Given the description of an element on the screen output the (x, y) to click on. 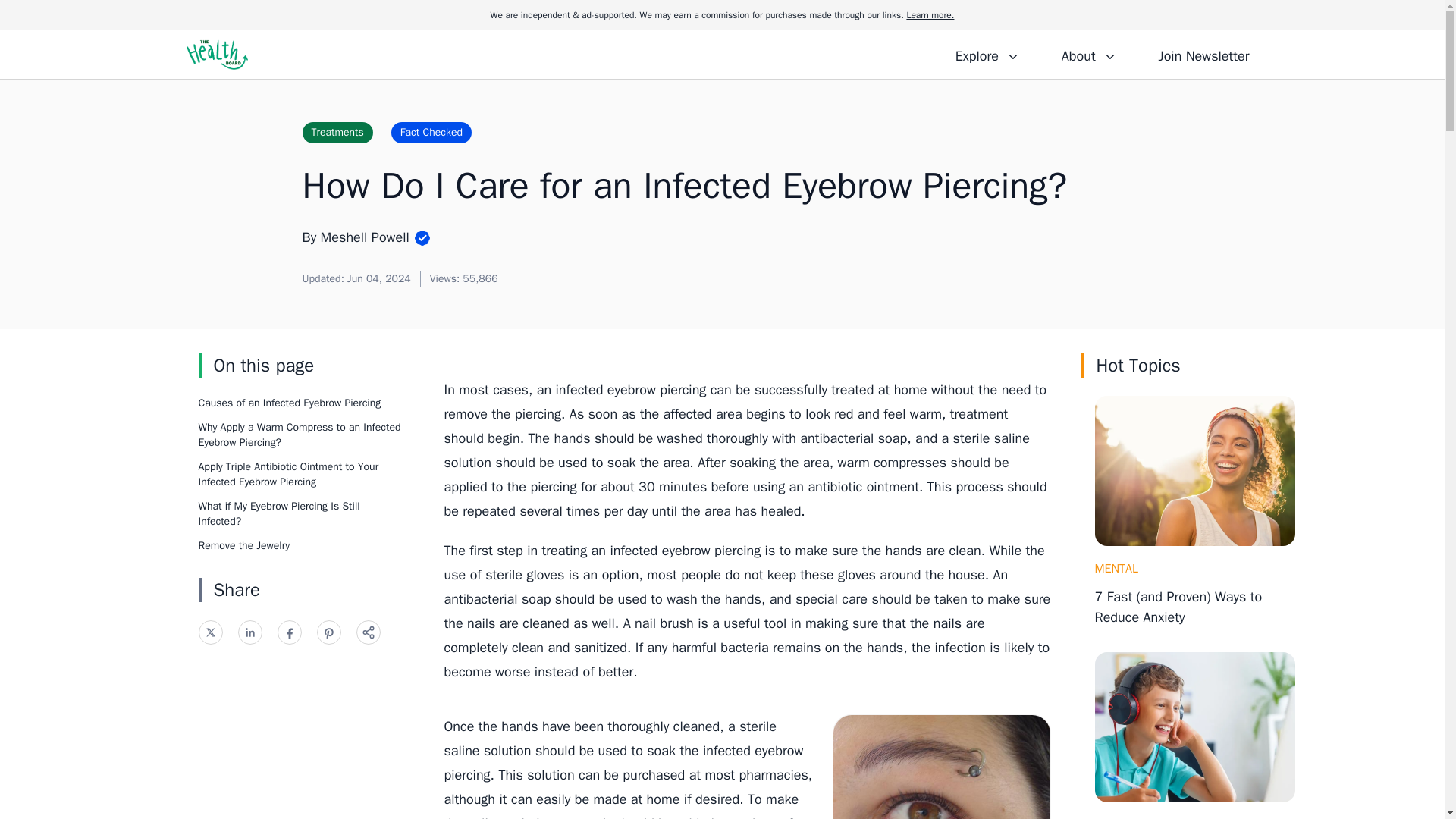
Causes of an Infected Eyebrow Piercing (289, 402)
Learn more. (929, 15)
About (1088, 54)
Explore (986, 54)
What if My Eyebrow Piercing Is Still Infected? (278, 513)
Treatments (336, 132)
Fact Checked (431, 132)
Join Newsletter (1202, 54)
Why Apply a Warm Compress to an Infected Eyebrow Piercing? (299, 434)
